Given the description of an element on the screen output the (x, y) to click on. 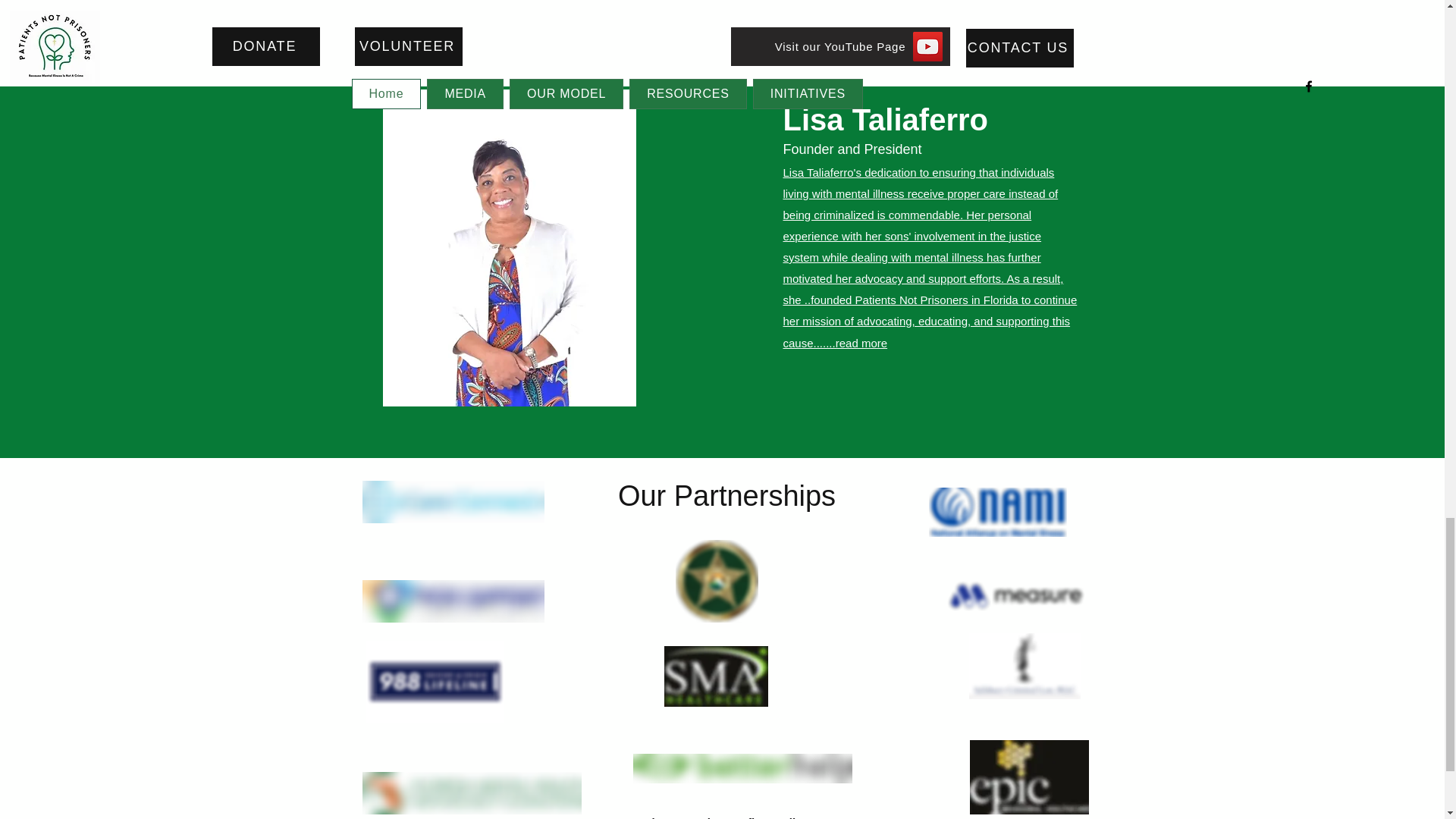
988 .png (434, 680)
Betterhelp.png (741, 767)
